Given the description of an element on the screen output the (x, y) to click on. 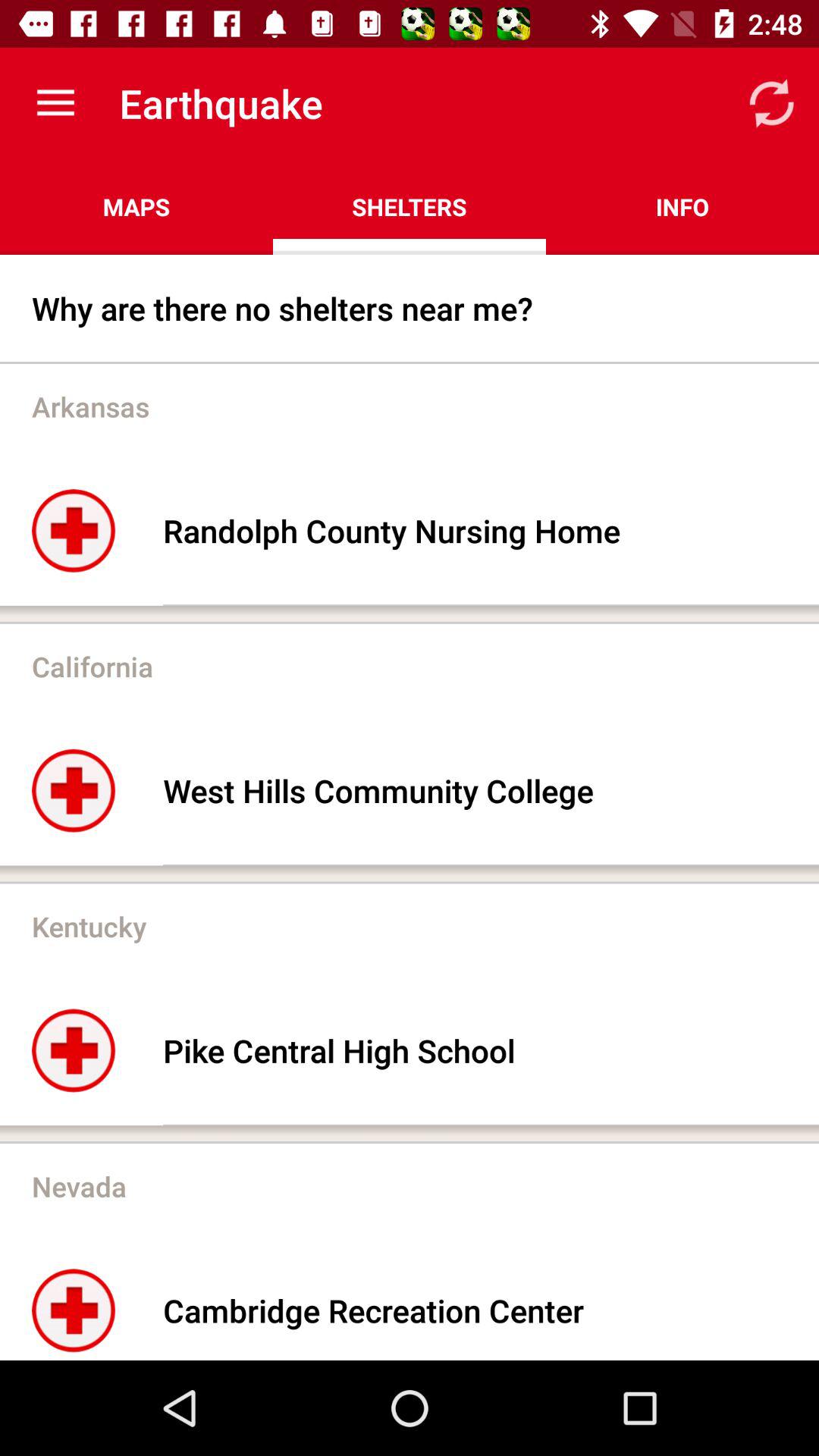
press item to the left of the earthquake icon (55, 103)
